Given the description of an element on the screen output the (x, y) to click on. 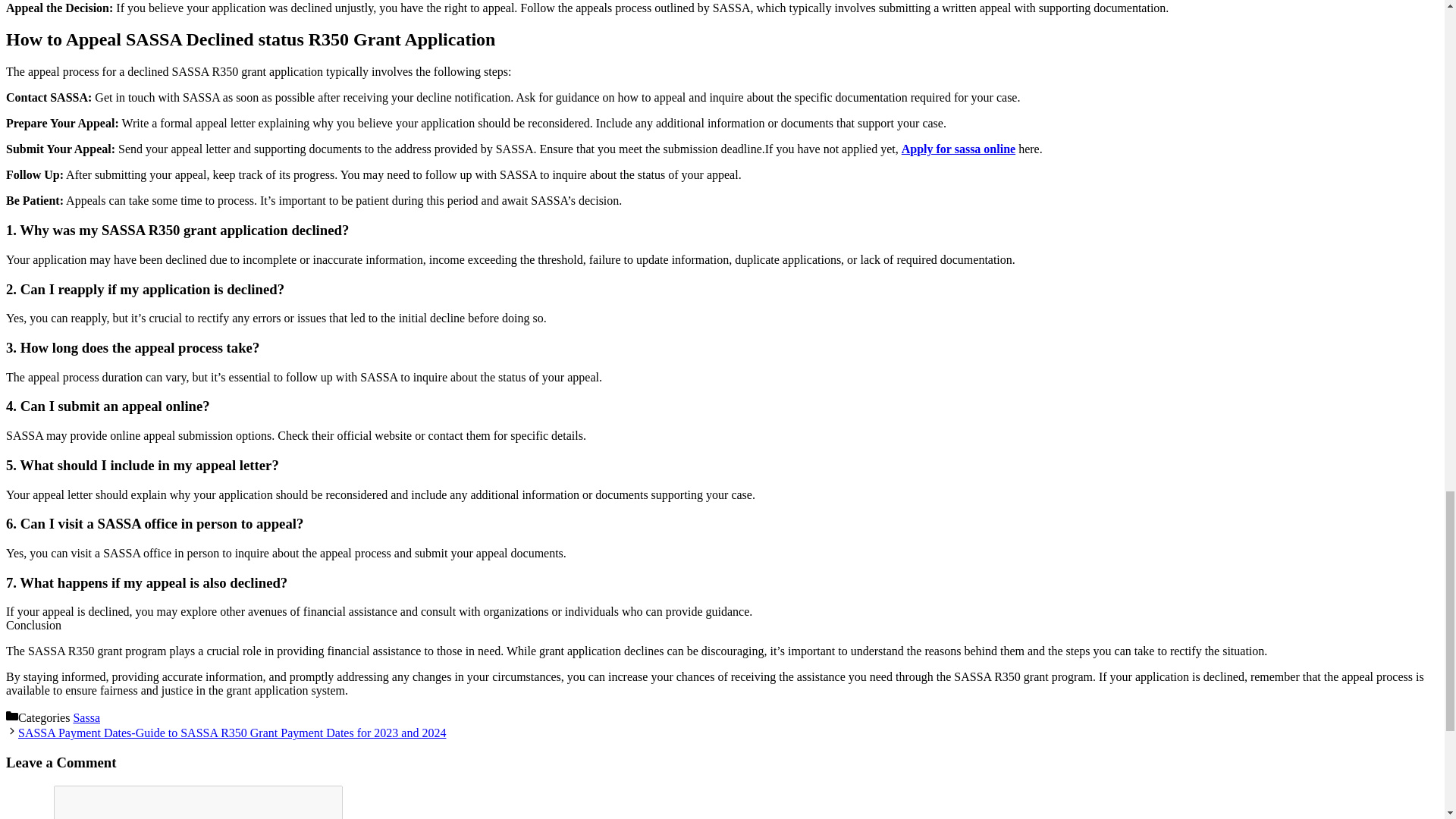
Sassa (86, 717)
Apply for sassa online (957, 148)
